Given the description of an element on the screen output the (x, y) to click on. 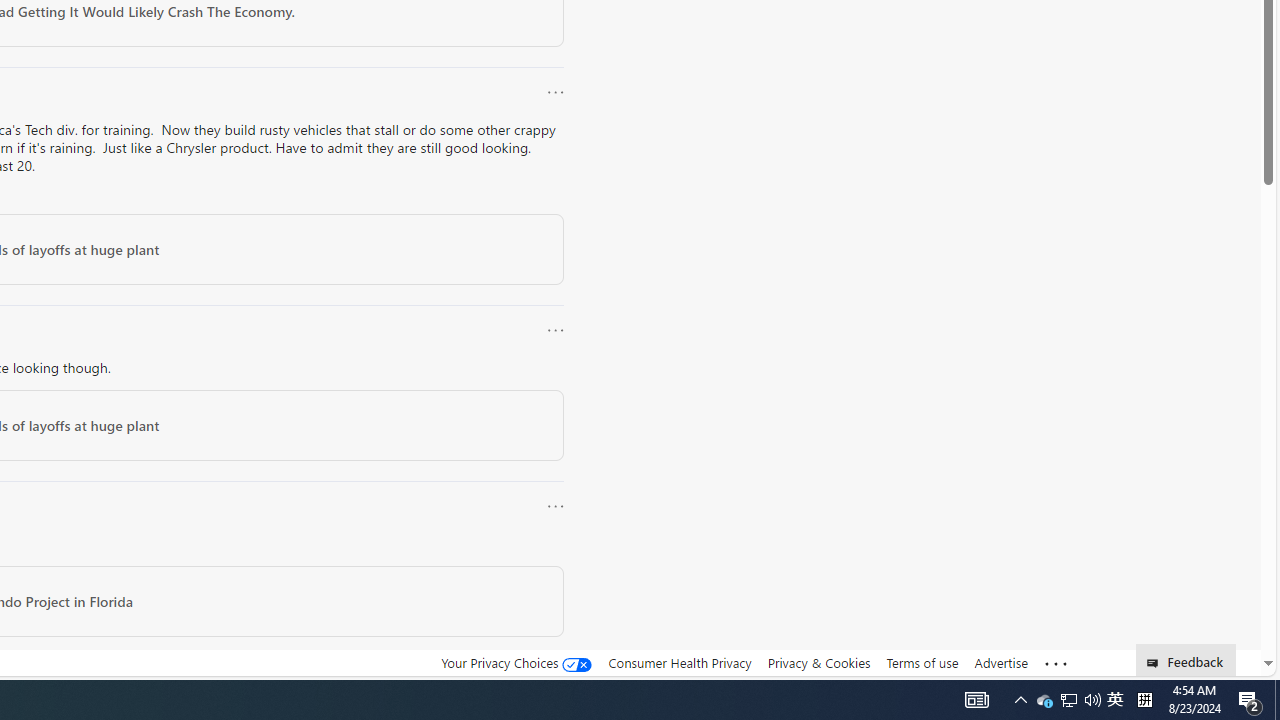
Class: feedback_link_icon-DS-EntryPoint1-1 (1156, 663)
Class: oneFooter_seeMore-DS-EntryPoint1-1 (1055, 663)
